Given the description of an element on the screen output the (x, y) to click on. 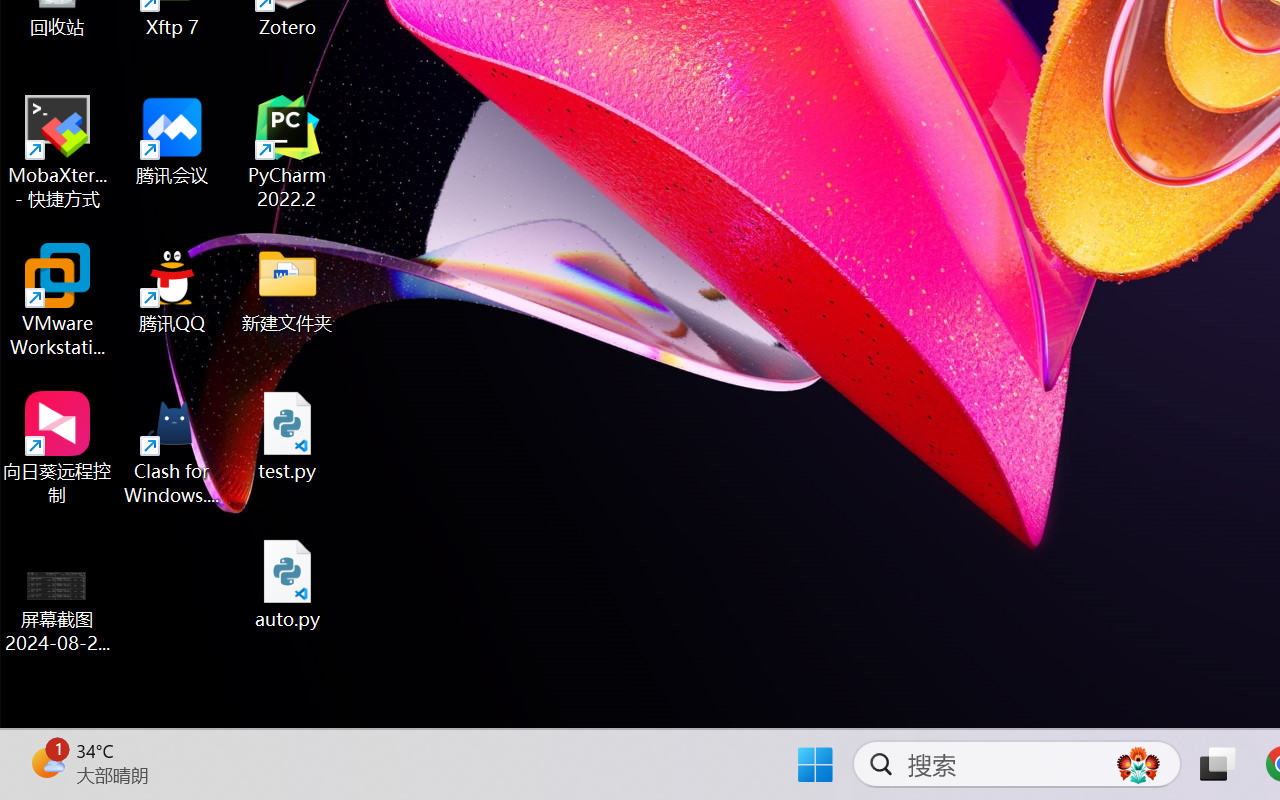
auto.py (287, 584)
VMware Workstation Pro (57, 300)
test.py (287, 436)
